Given the description of an element on the screen output the (x, y) to click on. 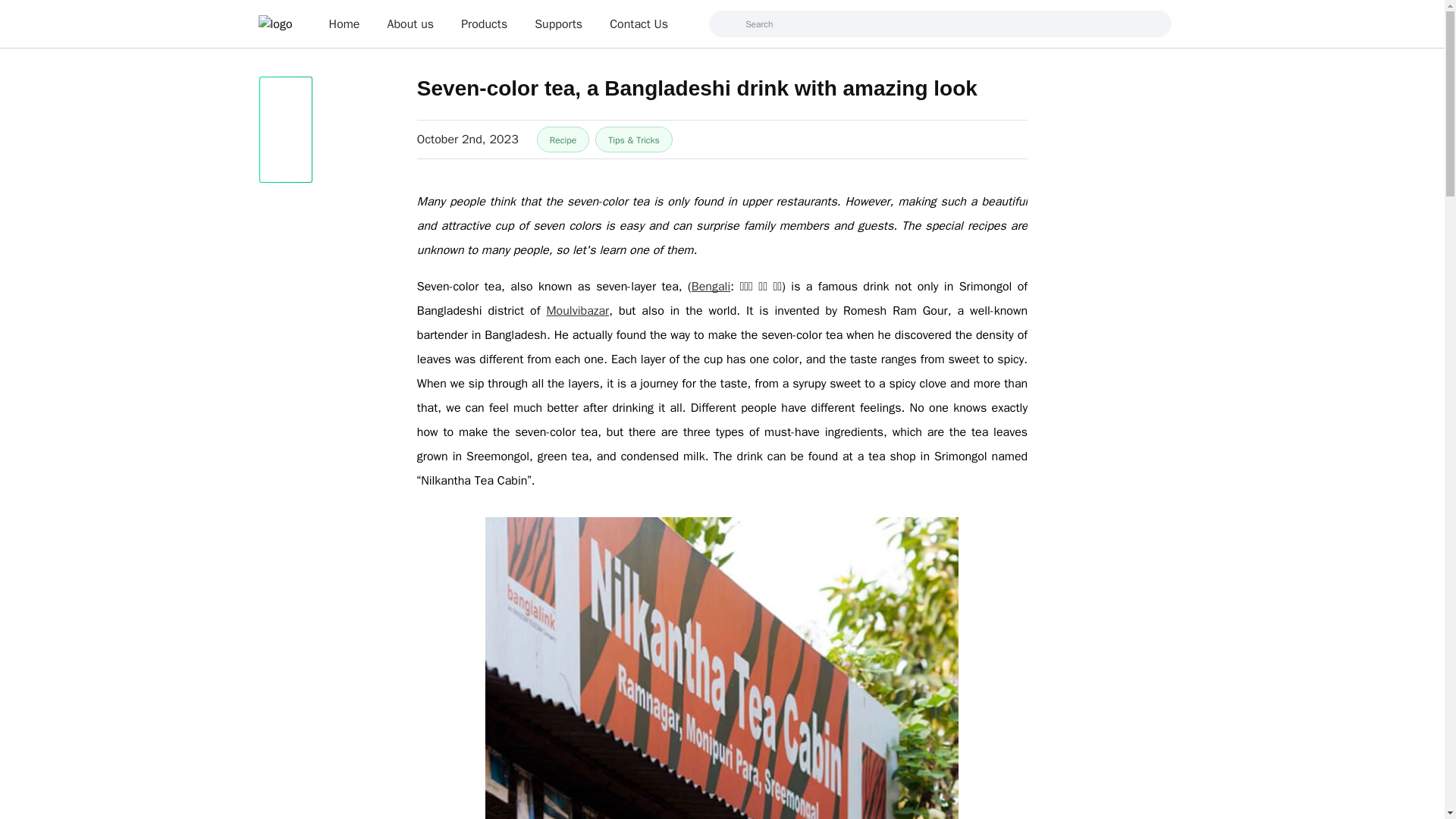
Products (483, 24)
 Moulvibazar (574, 310)
Recipe (563, 139)
Home (344, 24)
Contact Us (639, 24)
Bengali (710, 286)
